Given the description of an element on the screen output the (x, y) to click on. 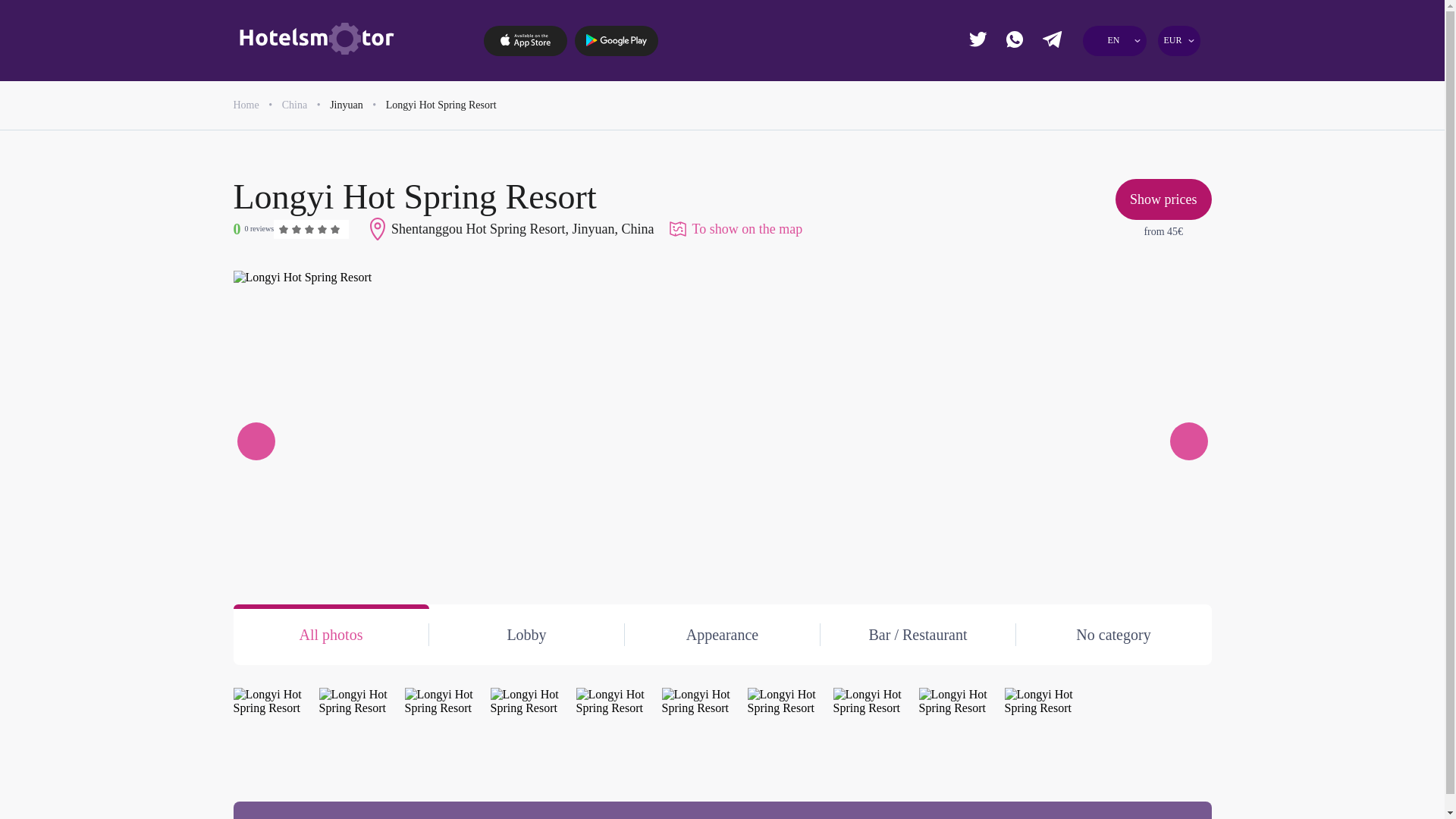
czk (1165, 76)
gbp (1110, 76)
ron (1110, 131)
sek (1110, 161)
try (1165, 161)
jpy (1110, 104)
krw (1055, 161)
eur (1055, 76)
nok (1165, 104)
pln (1055, 131)
